Given the description of an element on the screen output the (x, y) to click on. 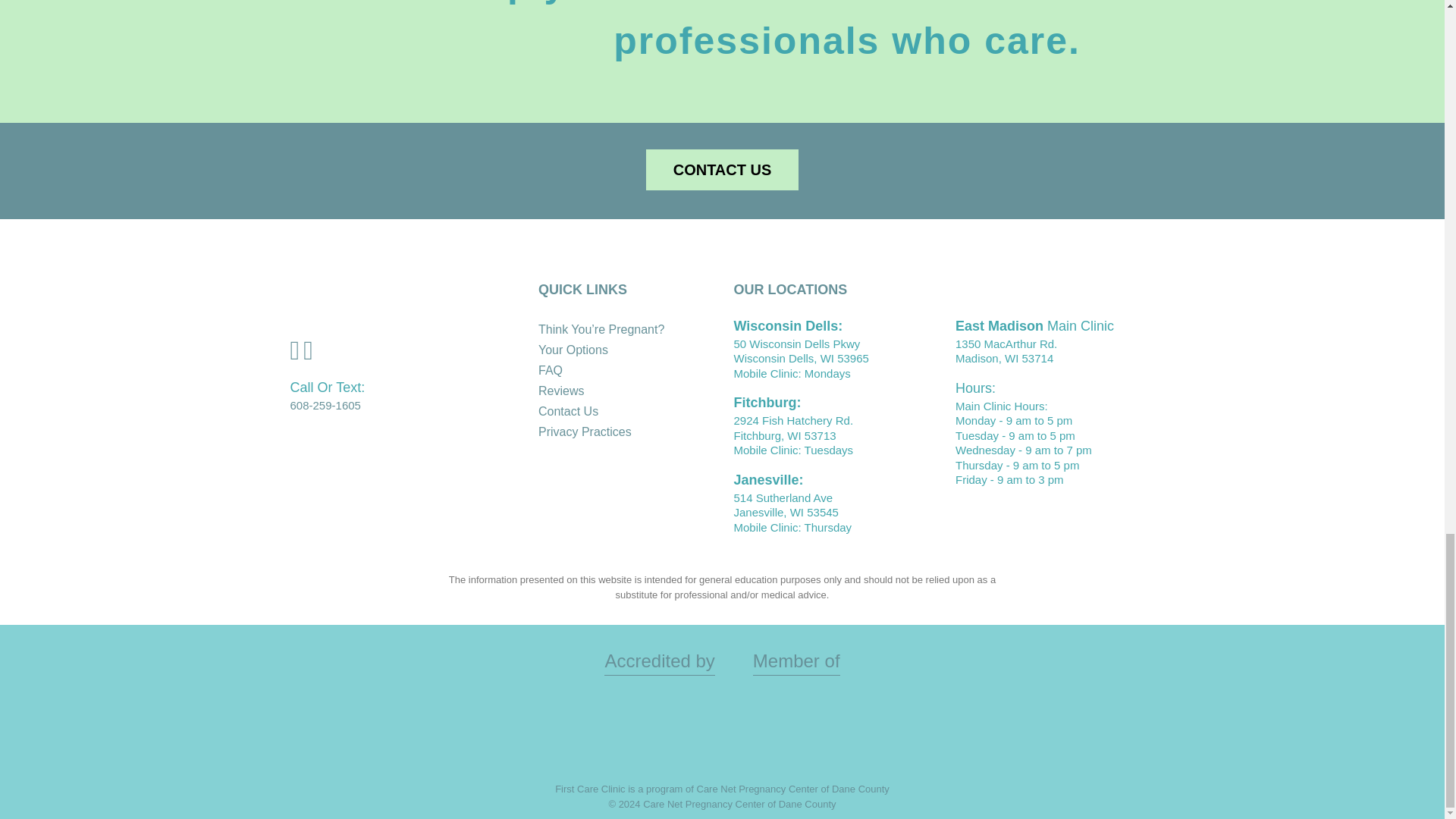
608-259-1605 (324, 404)
Your Options (573, 349)
CONTACT US (722, 169)
